Given the description of an element on the screen output the (x, y) to click on. 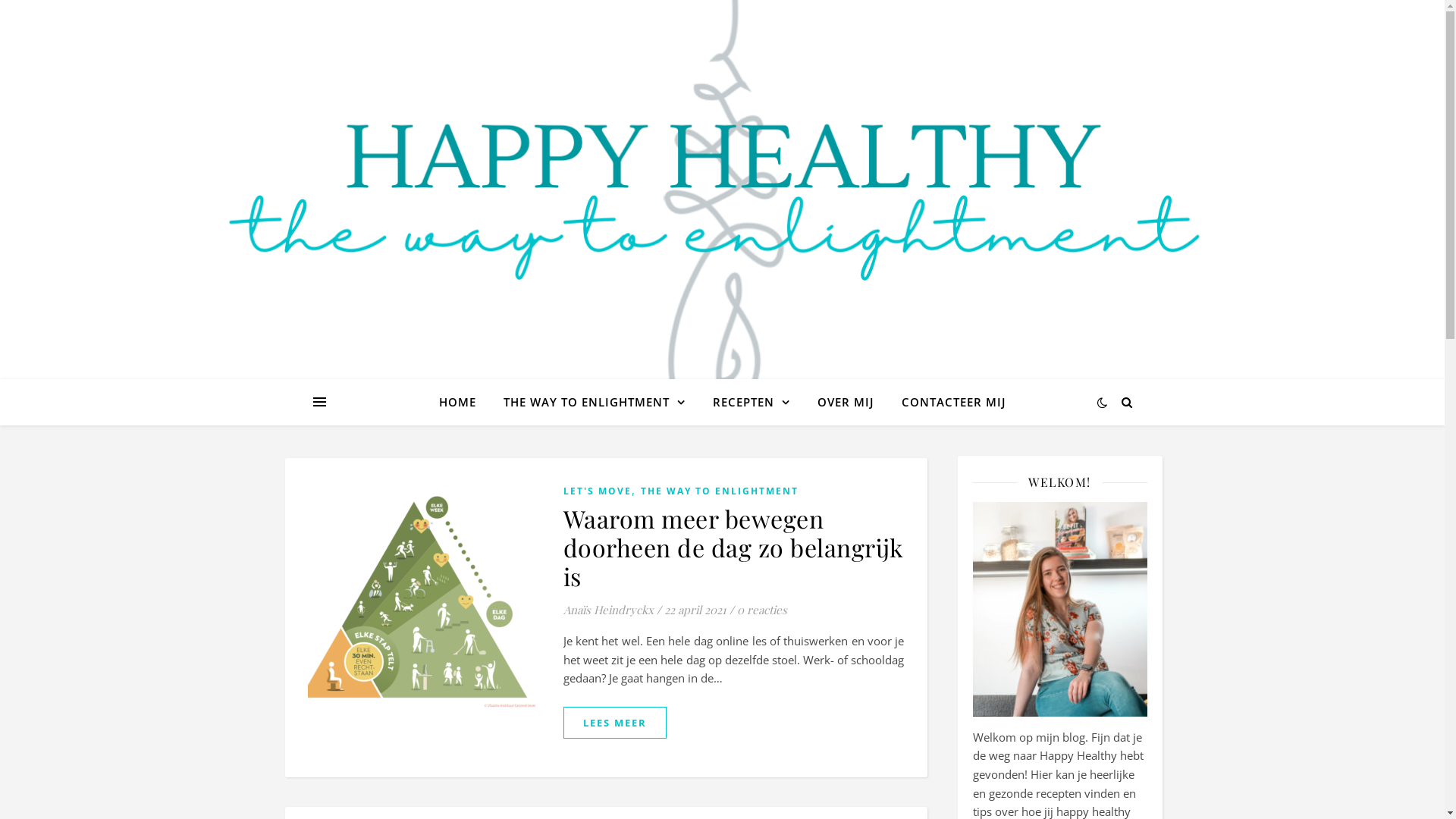
CONTACTEER MIJ Element type: text (946, 401)
THE WAY TO ENLIGHTMENT Element type: text (718, 491)
LET'S MOVE Element type: text (596, 491)
Waarom meer bewegen doorheen de dag zo belangrijk is Element type: text (732, 547)
HOME Element type: text (462, 401)
OVER MIJ Element type: text (845, 401)
0 reacties Element type: text (762, 609)
THE WAY TO ENLIGHTMENT Element type: text (594, 402)
RECEPTEN Element type: text (751, 402)
LEES MEER Element type: text (613, 722)
